Given the description of an element on the screen output the (x, y) to click on. 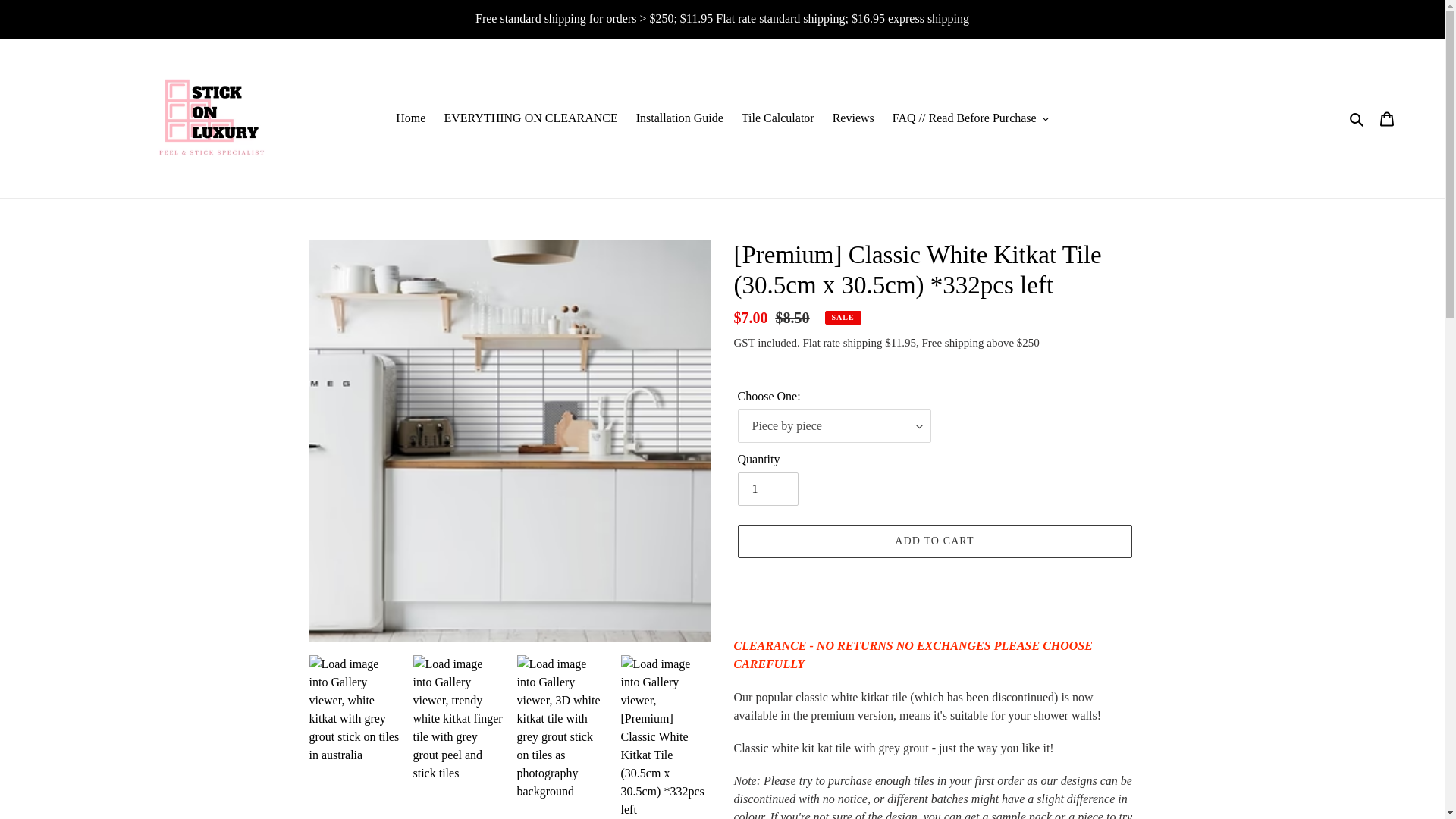
Search (1357, 117)
Cart (1387, 118)
1 (766, 489)
Tile Calculator (777, 118)
ADD TO CART (933, 540)
EVERYTHING ON CLEARANCE (529, 118)
Home (410, 118)
Installation Guide (679, 118)
Reviews (853, 118)
